Given the description of an element on the screen output the (x, y) to click on. 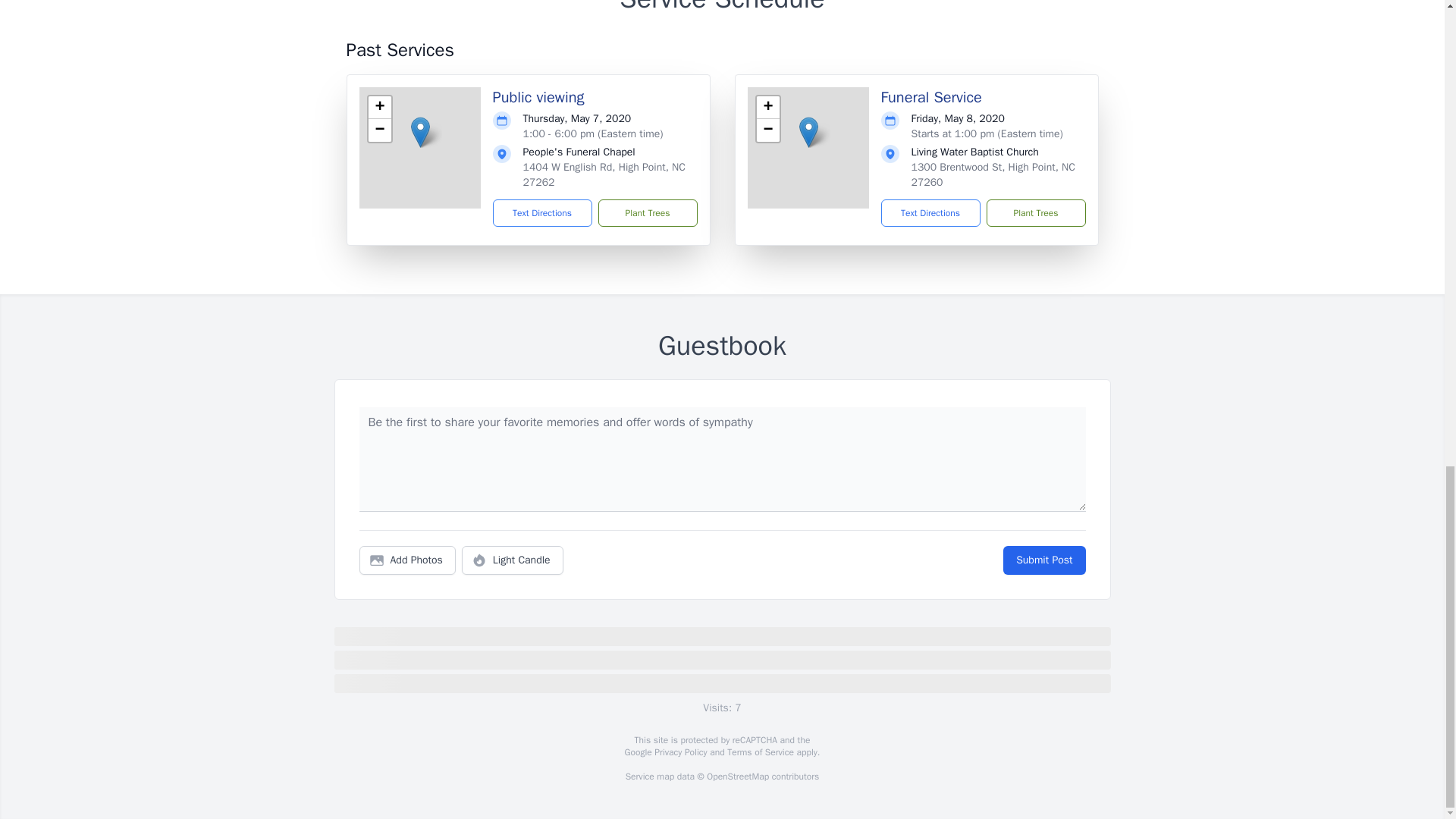
Text Directions (929, 212)
Plant Trees (1034, 212)
Privacy Policy (679, 752)
Add Photos (407, 560)
Light Candle (512, 560)
Zoom in (379, 107)
OpenStreetMap (737, 776)
1300 Brentwood St, High Point, NC 27260 (993, 174)
Text Directions (542, 212)
Zoom out (767, 129)
Zoom out (379, 129)
1404 W English Rd, High Point, NC 27262 (603, 174)
Zoom in (767, 107)
Plant Trees (646, 212)
Terms of Service (759, 752)
